Given the description of an element on the screen output the (x, y) to click on. 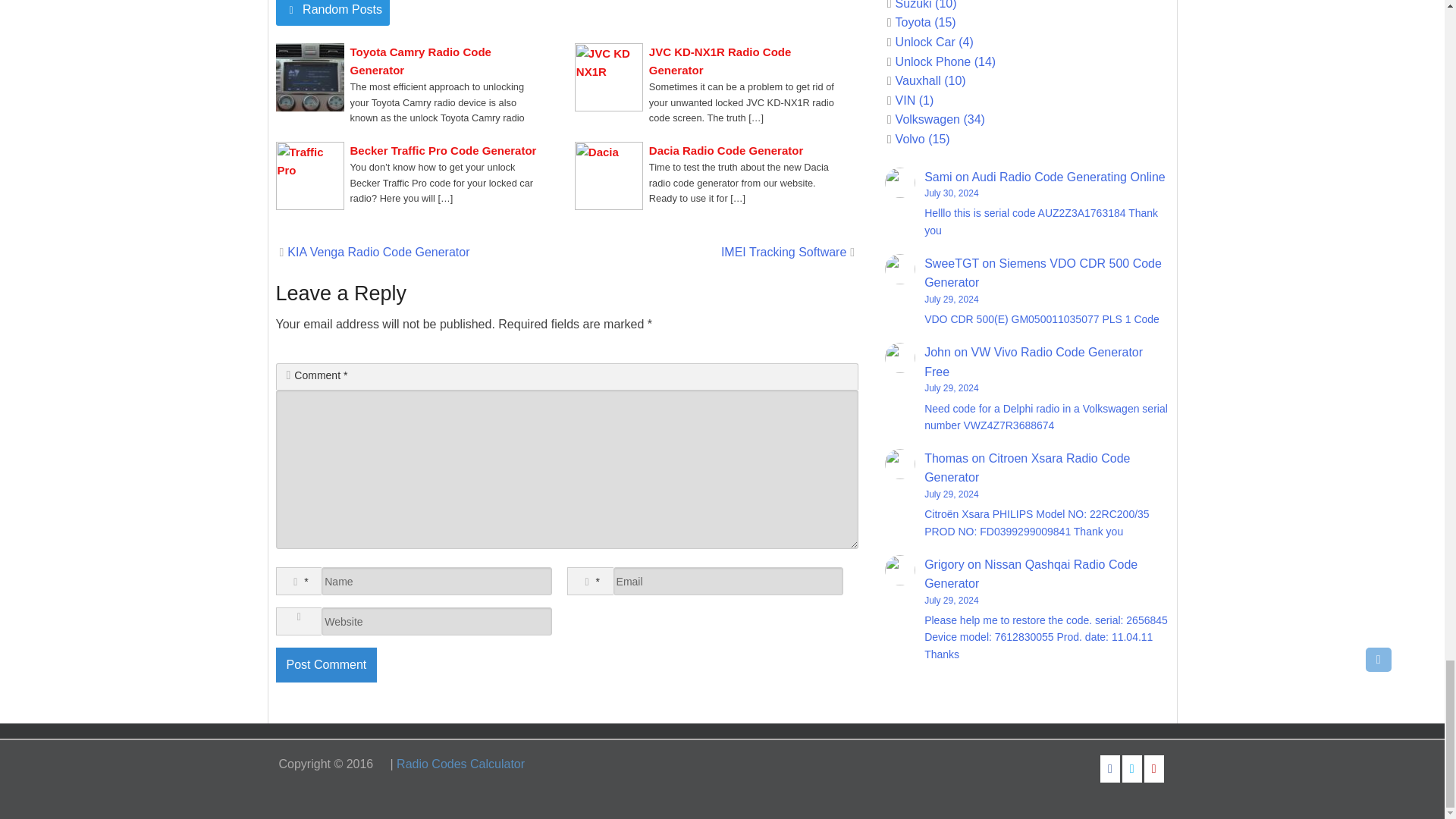
JVC KD-NX1R Radio Code Generator (742, 61)
Toyota Camry Radio Code Generator (443, 61)
Post Comment (326, 664)
